Given the description of an element on the screen output the (x, y) to click on. 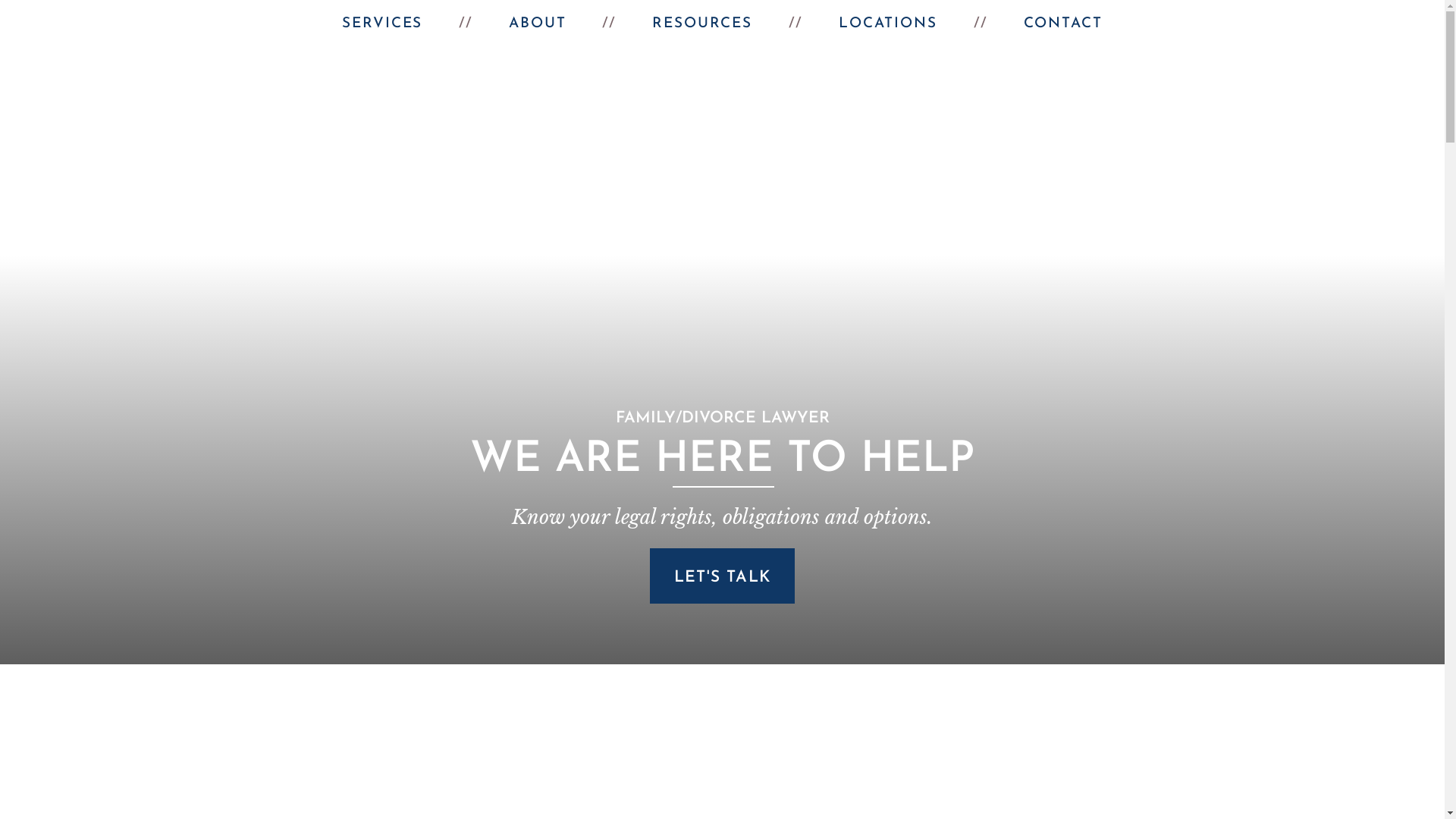
ABOUT Element type: text (536, 23)
RESOURCES Element type: text (702, 23)
LOCATIONS Element type: text (887, 23)
CONTACT Element type: text (1062, 23)
LET'S TALK Element type: text (721, 575)
SERVICES Element type: text (382, 23)
